Given the description of an element on the screen output the (x, y) to click on. 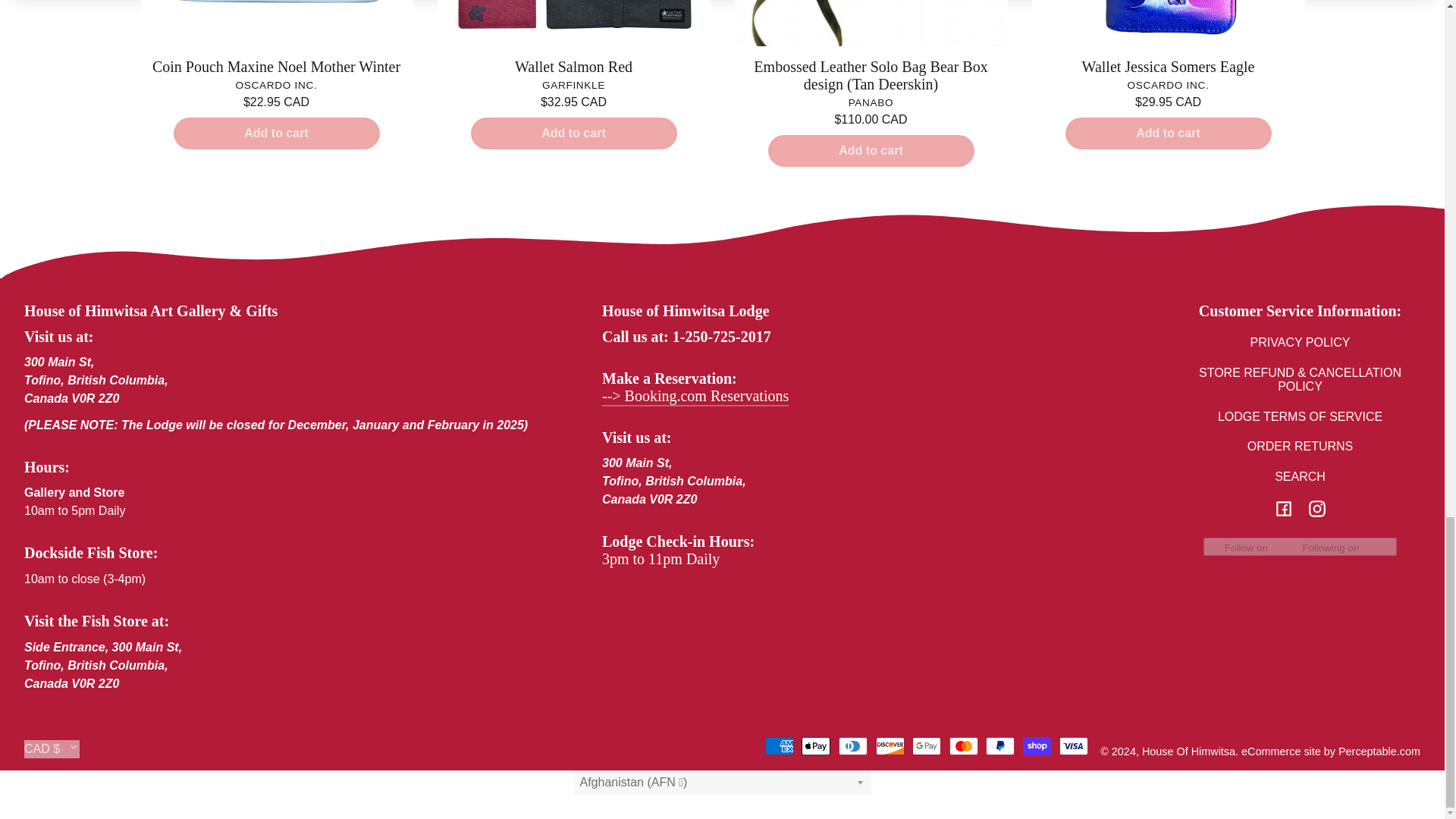
Diners Club (852, 746)
Apple Pay (815, 746)
Coin Pouch Maxine Noel Mother Winter (276, 67)
Add to cart (275, 133)
American Express (779, 746)
